Given the description of an element on the screen output the (x, y) to click on. 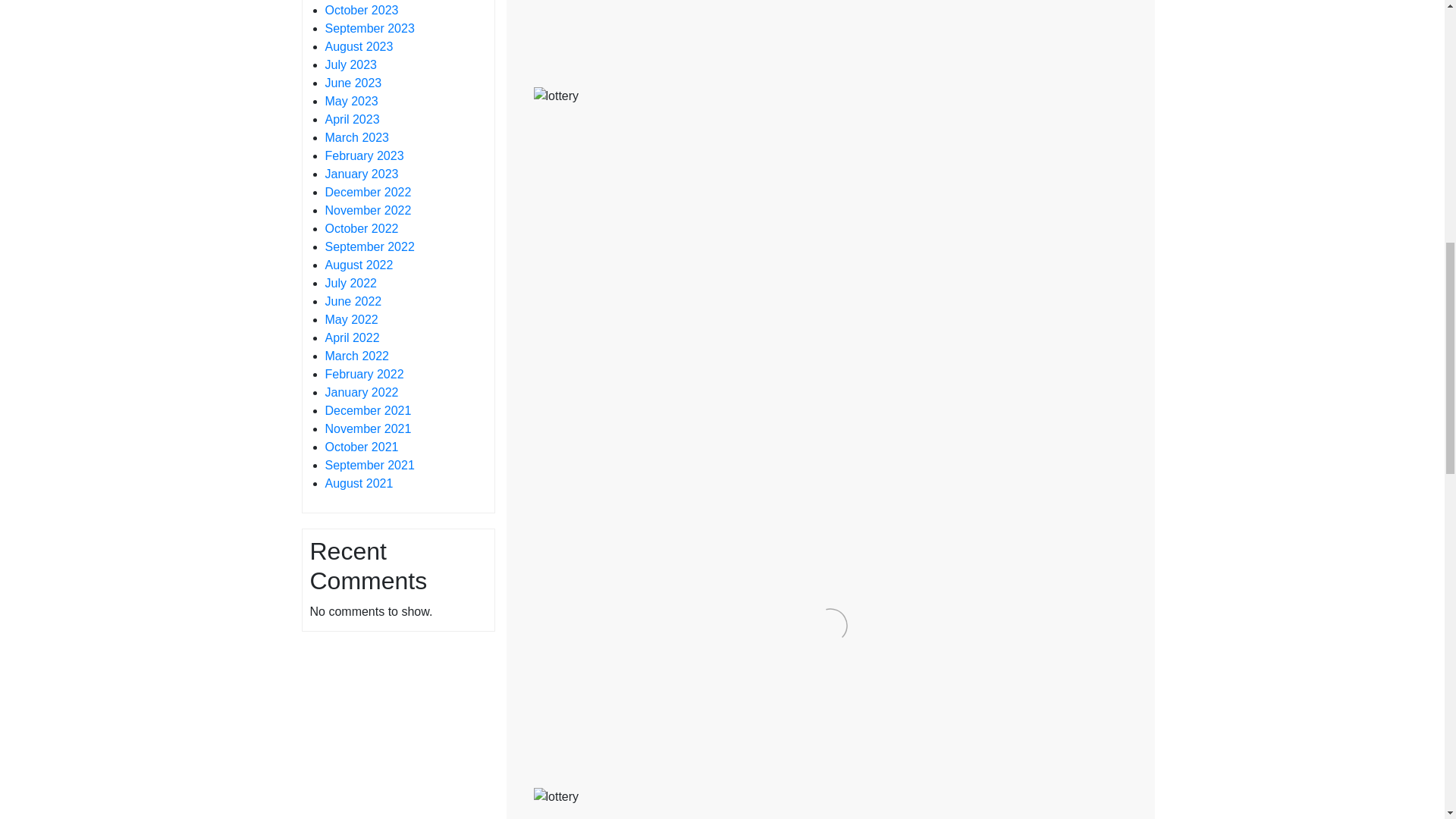
October 2022 (360, 228)
October 2023 (360, 10)
June 2022 (352, 300)
July 2022 (350, 282)
November 2022 (367, 210)
June 2023 (352, 82)
1:49 am (609, 780)
August 2023 (358, 46)
April 2023 (351, 119)
View all posts by admin (675, 79)
May 2023 (350, 101)
April 2022 (351, 337)
May 2022 (350, 318)
September 2023 (368, 28)
January 2023 (360, 173)
